Given the description of an element on the screen output the (x, y) to click on. 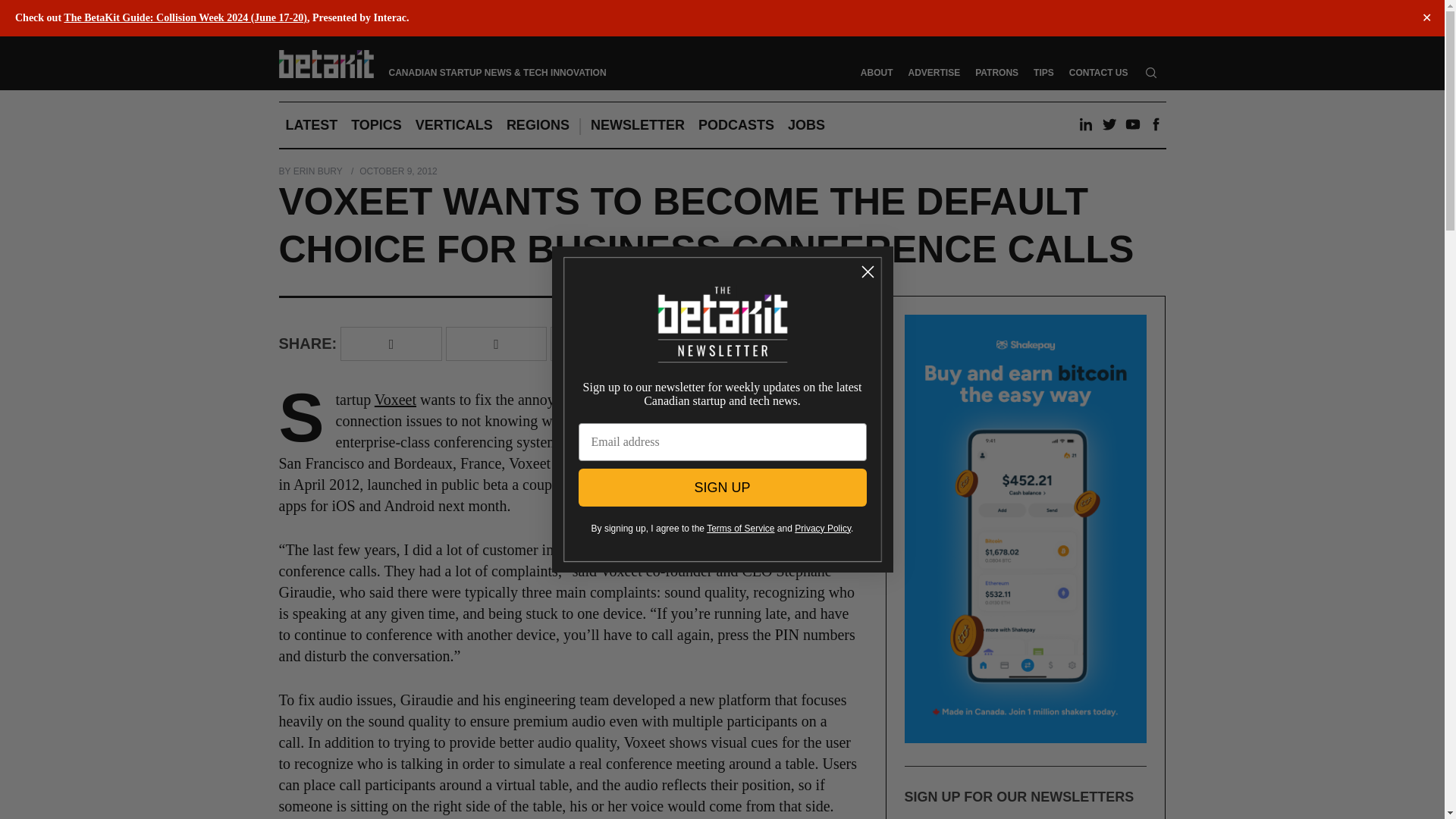
ADVERTISE (933, 72)
VERTICALS (454, 125)
JOBS (805, 125)
Posts by Erin Bury (318, 171)
ABOUT (877, 72)
REGIONS (537, 125)
TOPICS (376, 125)
CONTACT US (1098, 72)
PATRONS (997, 72)
NEWSLETTER (637, 125)
TIPS (1043, 72)
PODCASTS (735, 125)
LATEST (312, 125)
